Given the description of an element on the screen output the (x, y) to click on. 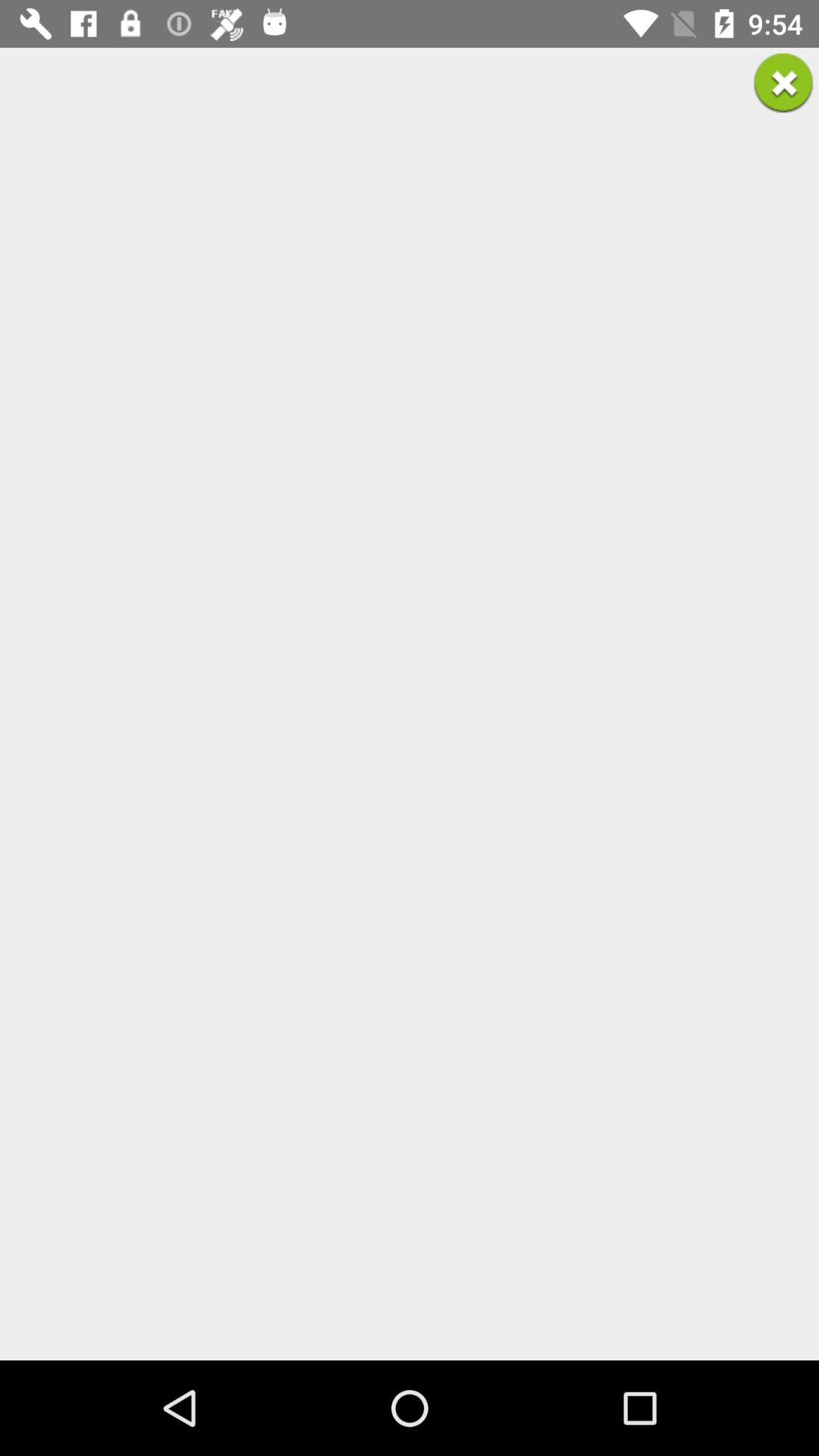
exit button (783, 83)
